Given the description of an element on the screen output the (x, y) to click on. 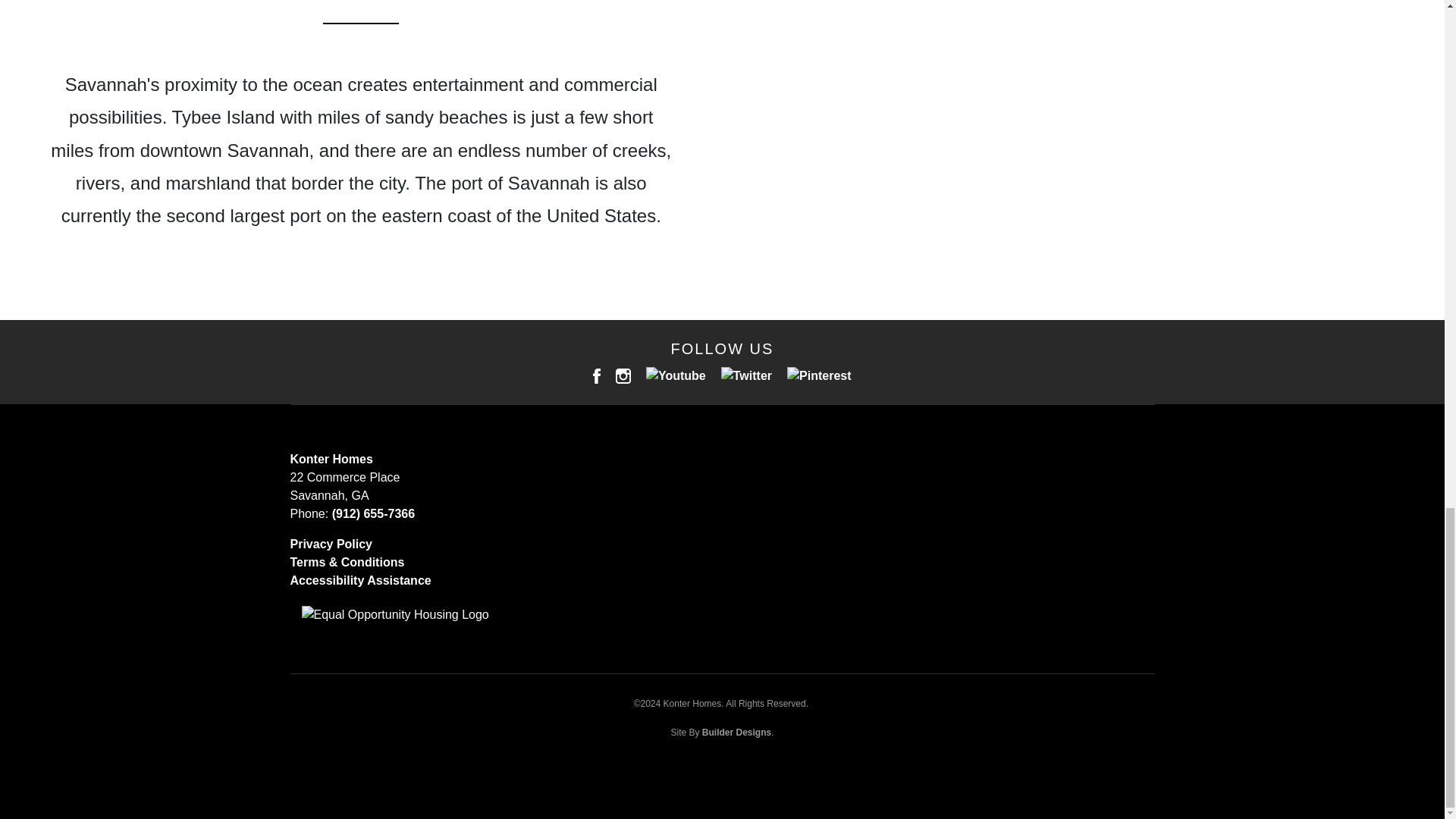
Builder Designs (736, 732)
Accessibility Assistance (359, 580)
Privacy Policy (330, 543)
